Given the description of an element on the screen output the (x, y) to click on. 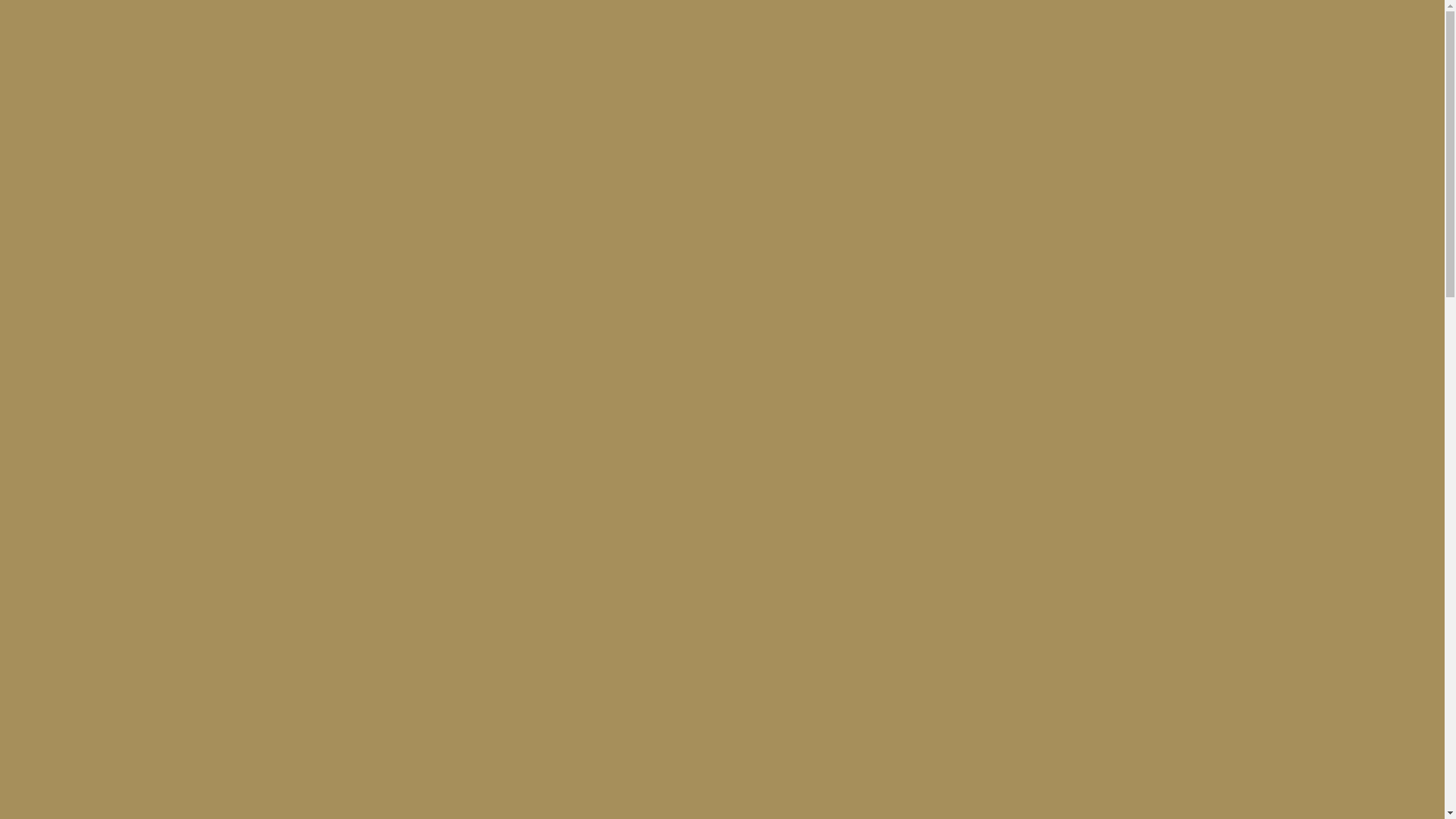
Contact Us Now Element type: text (76, 65)
